Given the description of an element on the screen output the (x, y) to click on. 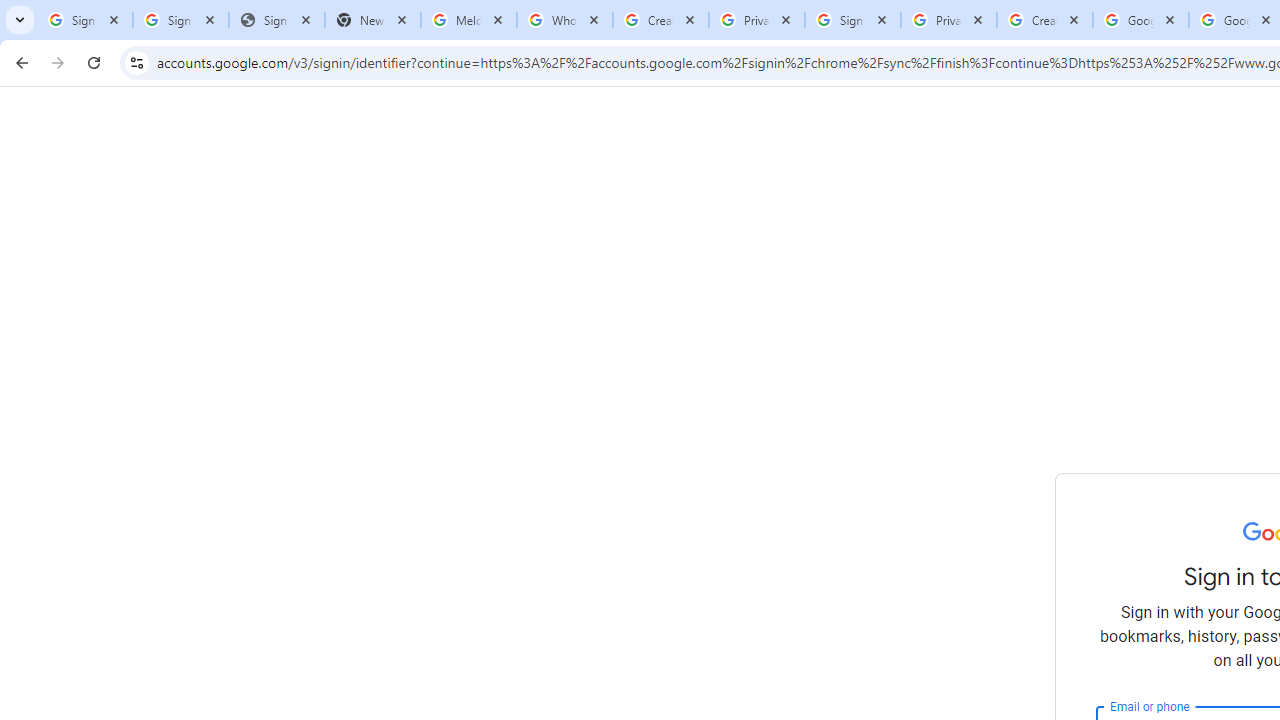
Sign In - USA TODAY (277, 20)
Sign in - Google Accounts (181, 20)
